Given the description of an element on the screen output the (x, y) to click on. 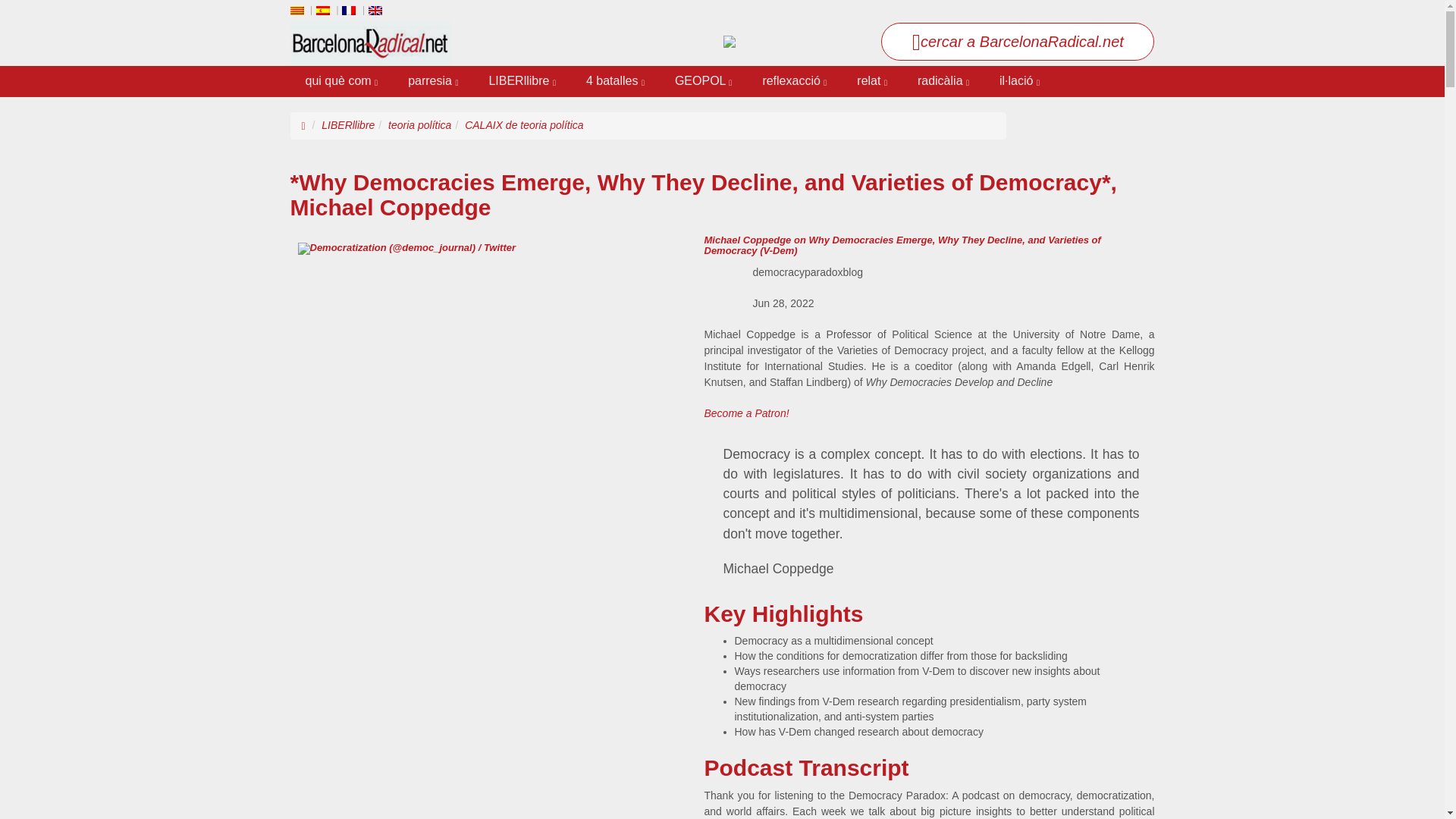
4 batalles (614, 81)
relat (871, 81)
LIBERllibre (521, 81)
GEOPOL (702, 81)
parresia (433, 81)
Page 1 (928, 358)
cercar a BarcelonaRadical.net (1017, 41)
